Given the description of an element on the screen output the (x, y) to click on. 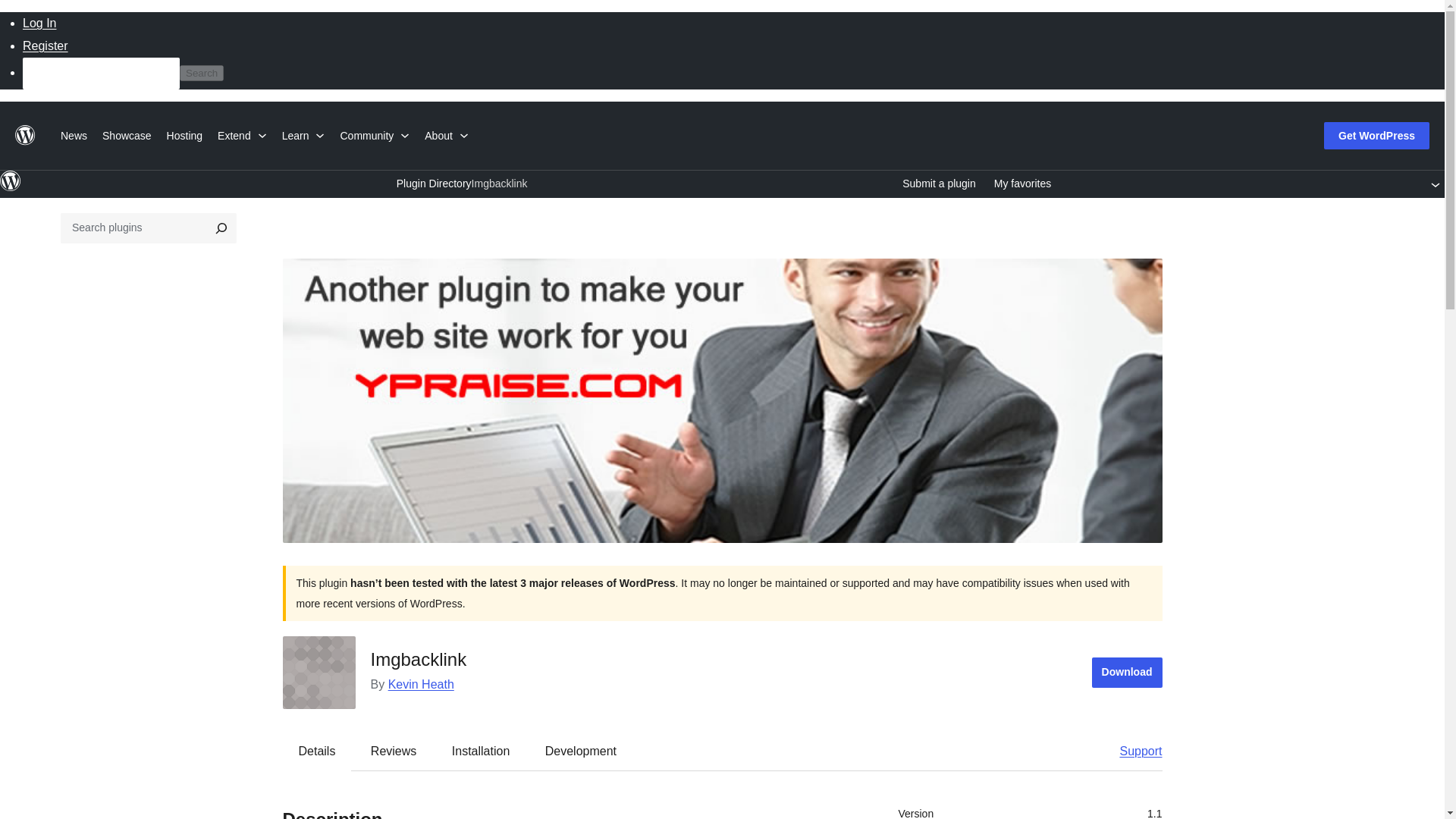
Log In (39, 22)
Search (201, 73)
Imgbacklink (499, 184)
Get WordPress (1376, 135)
About (446, 134)
WordPress.org (10, 180)
Register (45, 45)
Extend (242, 134)
Search (201, 73)
Plugin Directory (433, 183)
Community (373, 134)
Learn (304, 134)
Showcase (126, 134)
